Given the description of an element on the screen output the (x, y) to click on. 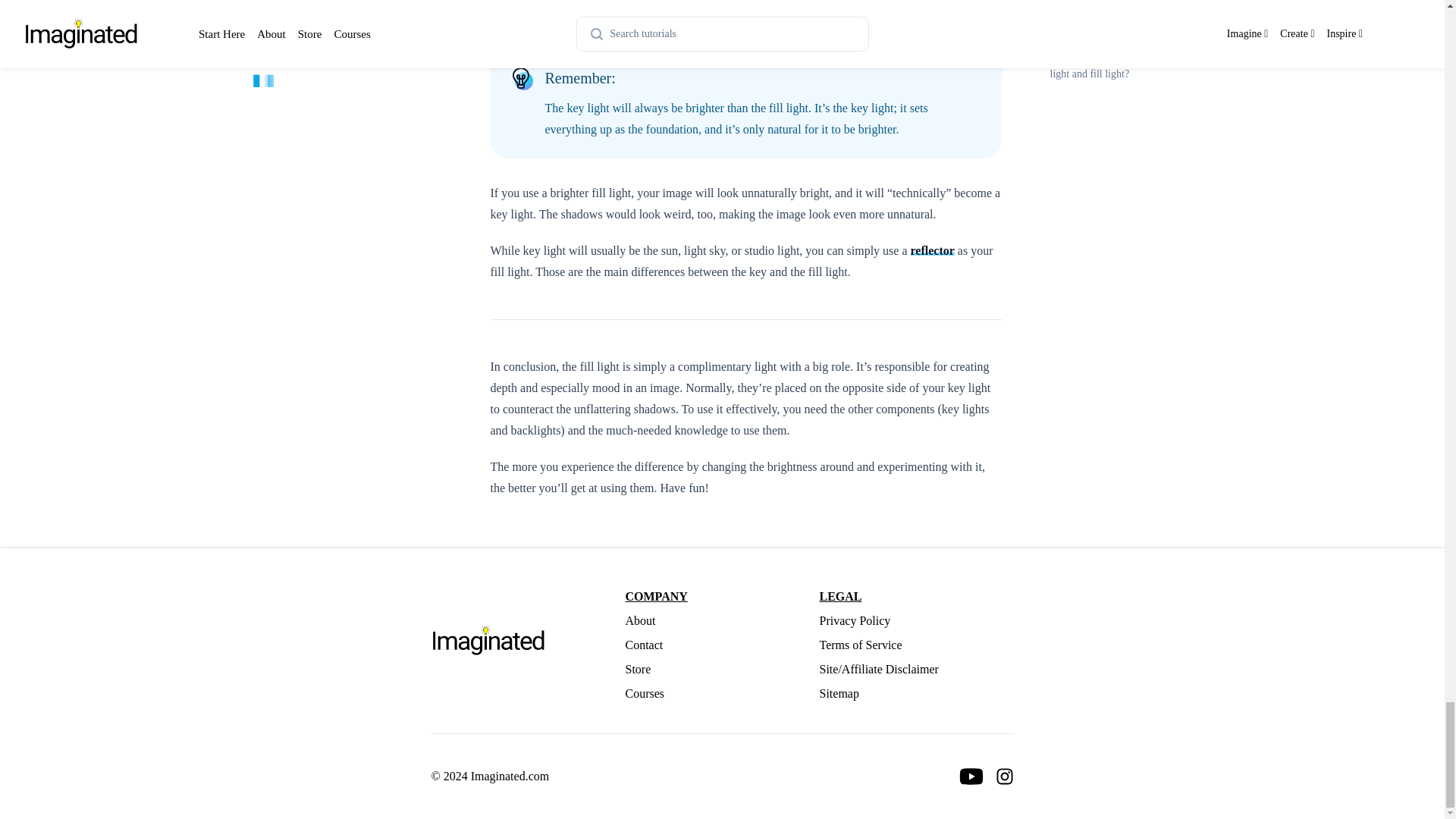
Privacy Policy (915, 620)
About (721, 620)
Store (721, 669)
reflector (933, 250)
Contact (721, 645)
Sitemap (915, 693)
Courses (721, 693)
Terms of Service (915, 645)
